Given the description of an element on the screen output the (x, y) to click on. 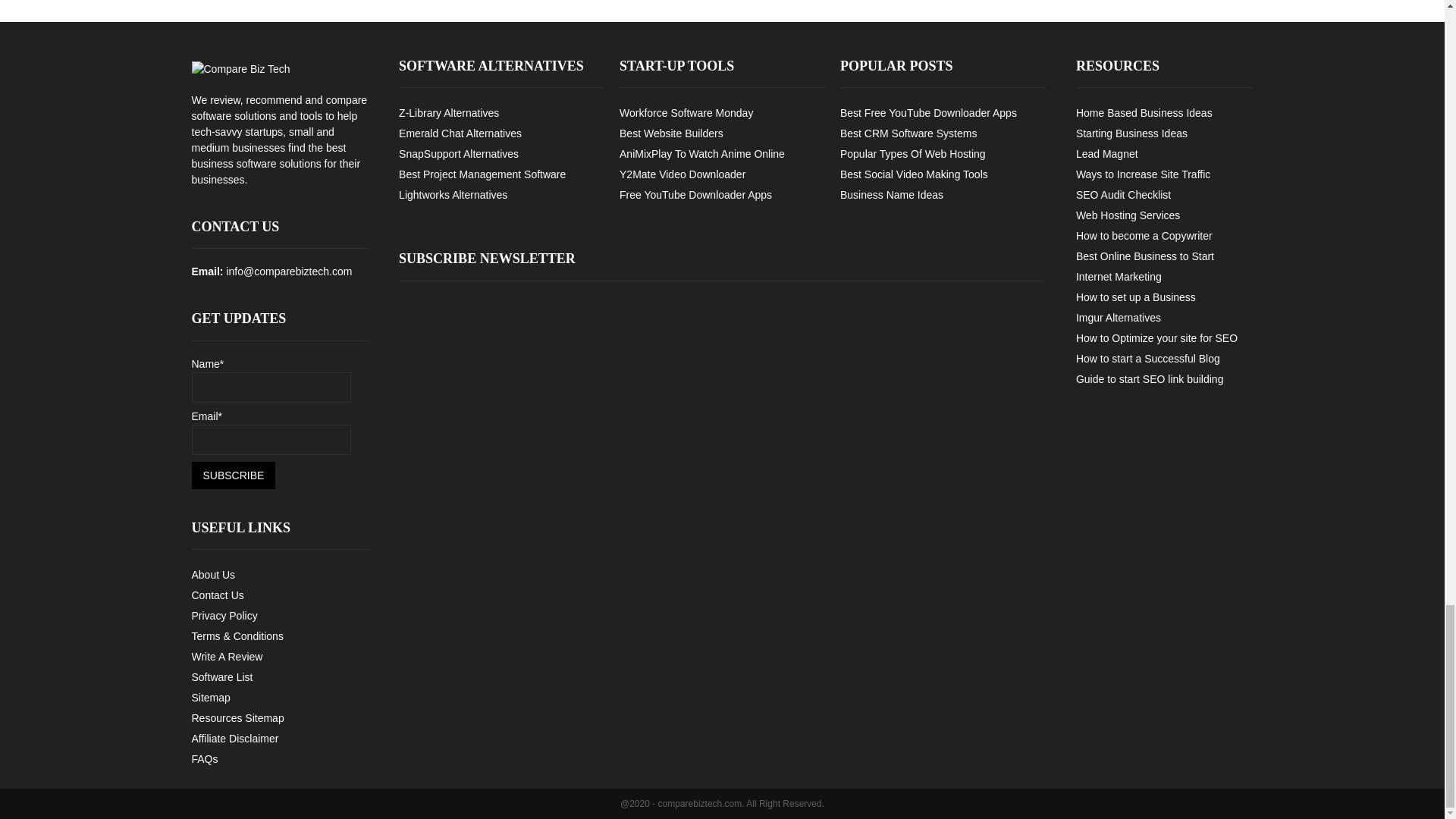
Sitemap (210, 697)
CompareBizTech Frequently Asked Questions (203, 758)
Subscribe (232, 474)
